Given the description of an element on the screen output the (x, y) to click on. 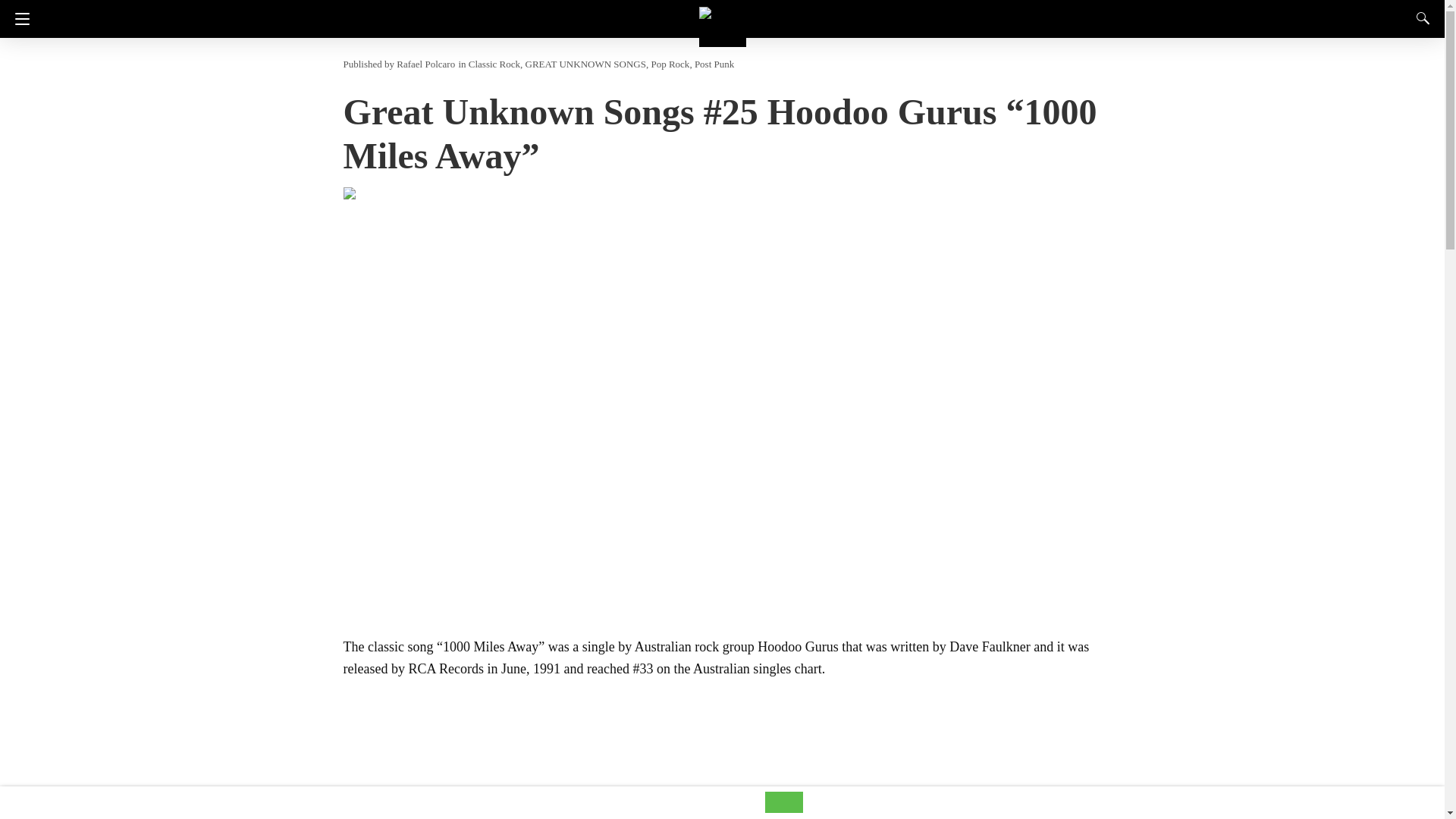
whatsapp share (784, 808)
Post Punk (713, 63)
GREAT UNKNOWN SONGS (585, 63)
Rock And Roll Garage (721, 23)
Pop Rock (669, 63)
Classic Rock (493, 63)
